Given the description of an element on the screen output the (x, y) to click on. 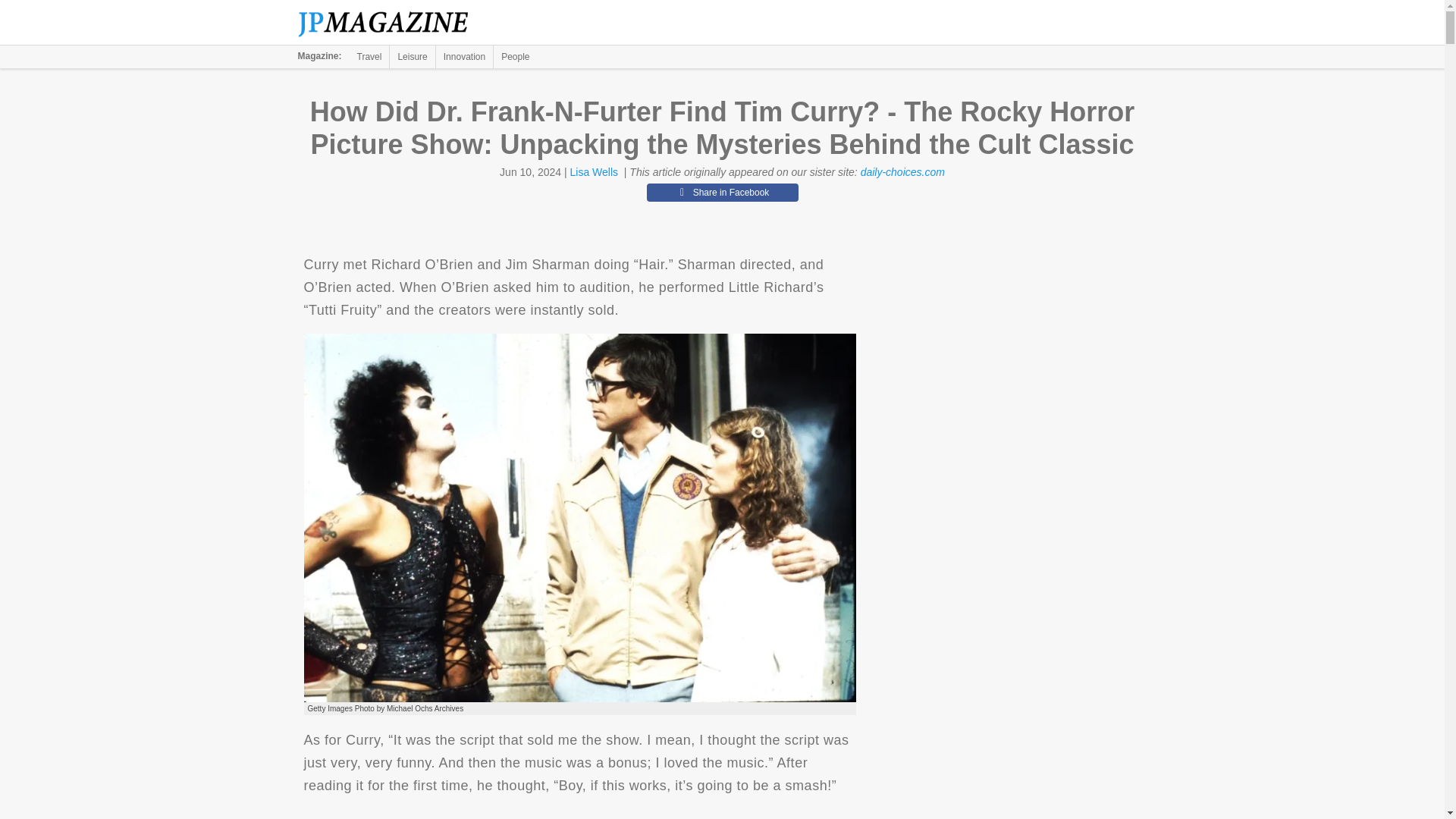
Lisa Wells (594, 172)
Travel (369, 56)
People (515, 56)
Leisure (411, 56)
Share in Facebook (721, 192)
daily-choices.com (902, 172)
The Jerusalem Post Magazine (391, 22)
Innovation (464, 56)
